Given the description of an element on the screen output the (x, y) to click on. 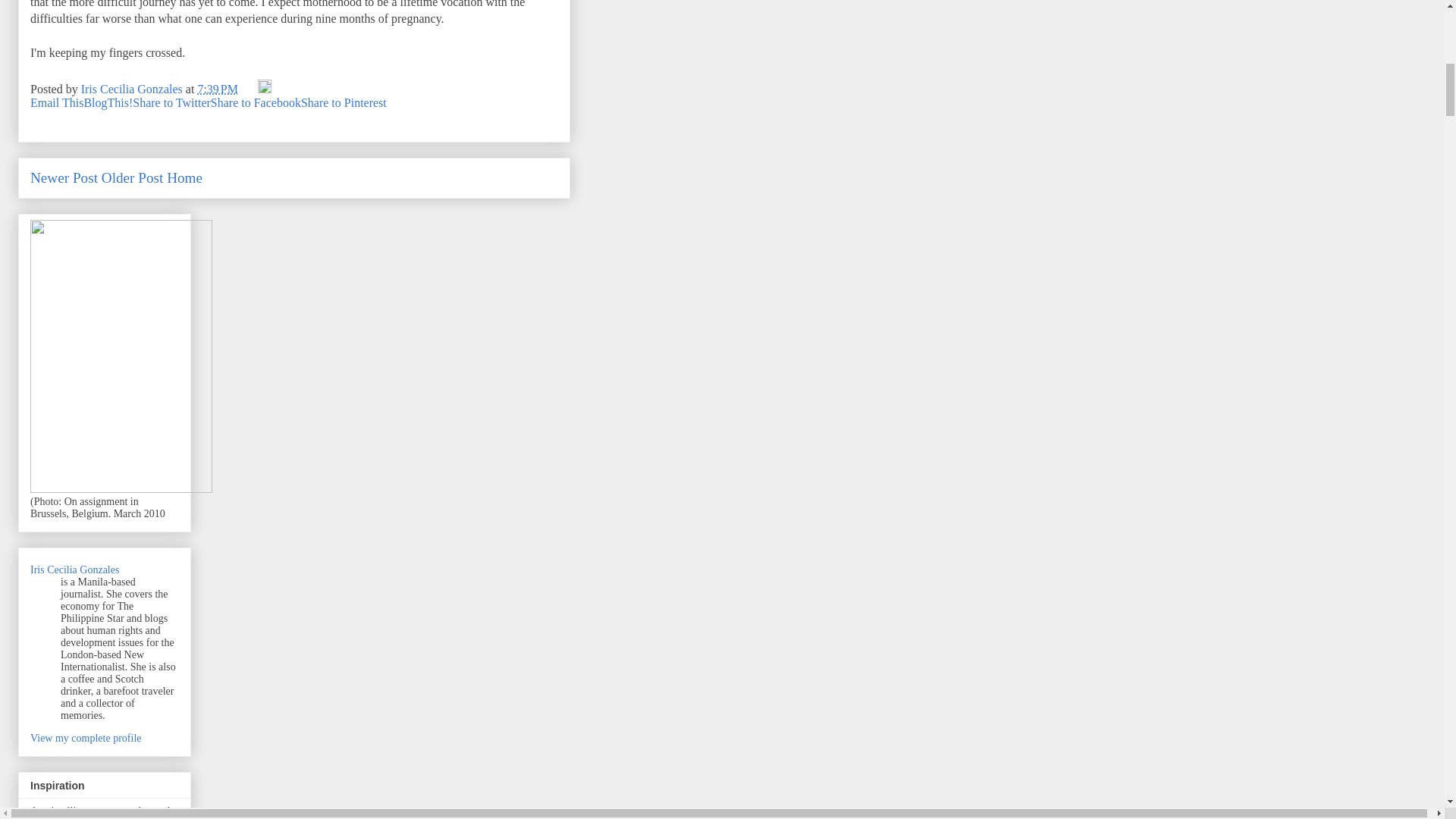
Older Post (132, 177)
Iris Cecilia Gonzales (74, 569)
Share to Facebook (256, 102)
Edit Post (263, 88)
Email This (56, 102)
BlogThis! (107, 102)
Share to Facebook (256, 102)
Email Post (249, 88)
Newer Post (63, 177)
Share to Pinterest (344, 102)
Iris Cecilia Gonzales (133, 88)
Share to Pinterest (344, 102)
permanent link (217, 88)
Email This (56, 102)
